Given the description of an element on the screen output the (x, y) to click on. 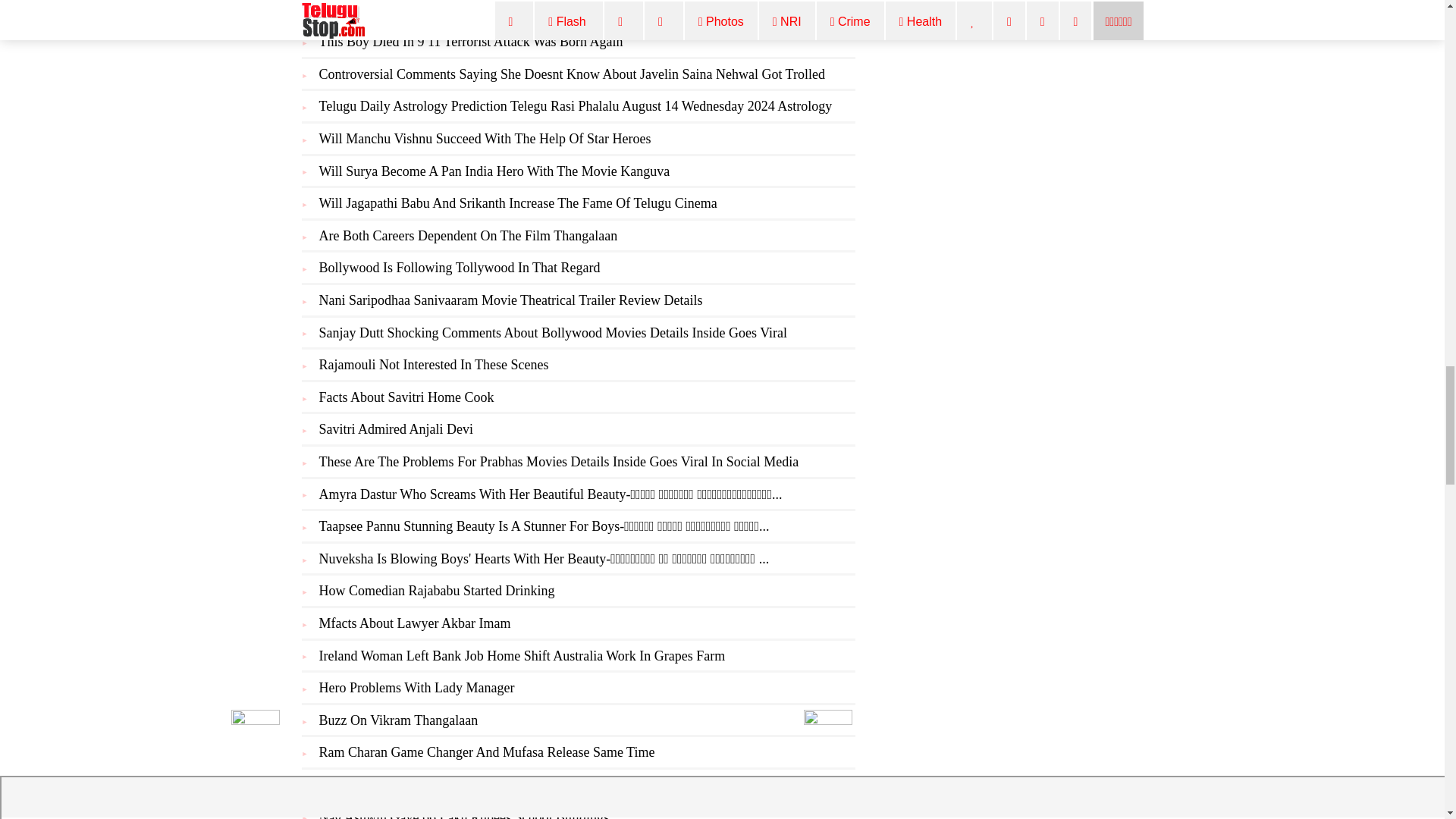
Bollywood Is Following Tollywood In That Regard (458, 267)
Facts About Savitri Home Cook (405, 396)
Savitri Admired Anjali Devi (394, 428)
Rajamouli Not Interested In These Scenes (433, 364)
Will Manchu Vishnu Succeed With The Help Of Star Heroes (484, 138)
Wonderful Health Benefits Of Peepal Leaves (441, 9)
Are Both Careers Dependent On The Film Thangalaan (467, 235)
